Given the description of an element on the screen output the (x, y) to click on. 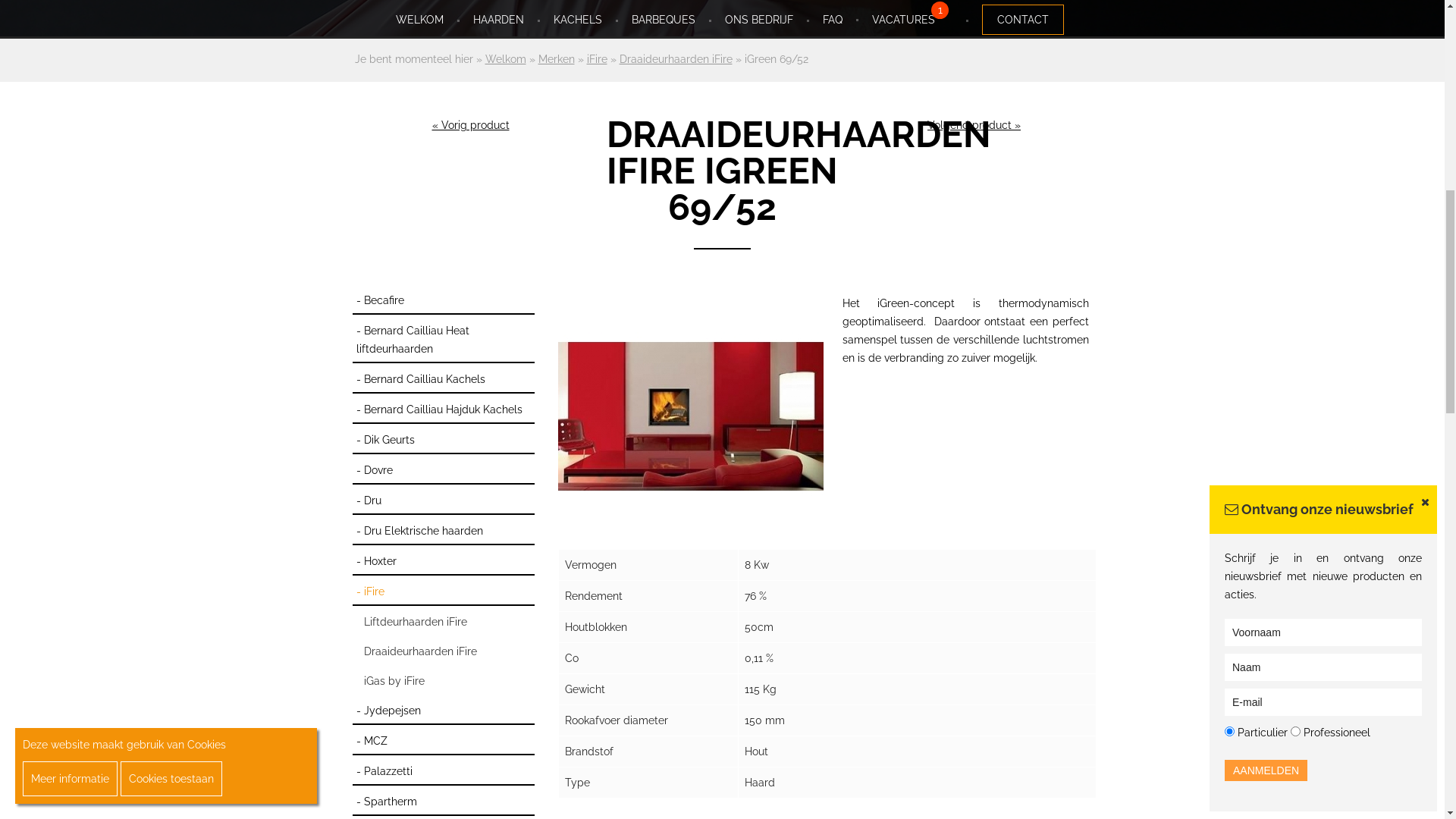
BARBEQUES Element type: text (663, 679)
iFire Element type: text (596, 718)
Merken Element type: text (556, 718)
CONTACT Element type: text (1022, 679)
Draaideurhaarden iFire Element type: text (674, 718)
WELKOM Element type: text (419, 679)
NEDERLANDS Element type: text (1150, 55)
Nederlands Element type: hover (1111, 57)
Welkom Element type: text (505, 718)
BEL ONS VOOR EEN AFSPRAAK AAN HUIS Element type: text (721, 20)
HAARDEN Element type: text (498, 679)
VACATURES
1 Element type: text (911, 678)
FAQ Element type: text (832, 679)
ONS BEDRIJF Element type: text (758, 679)
KACHELS Element type: text (577, 679)
